Given the description of an element on the screen output the (x, y) to click on. 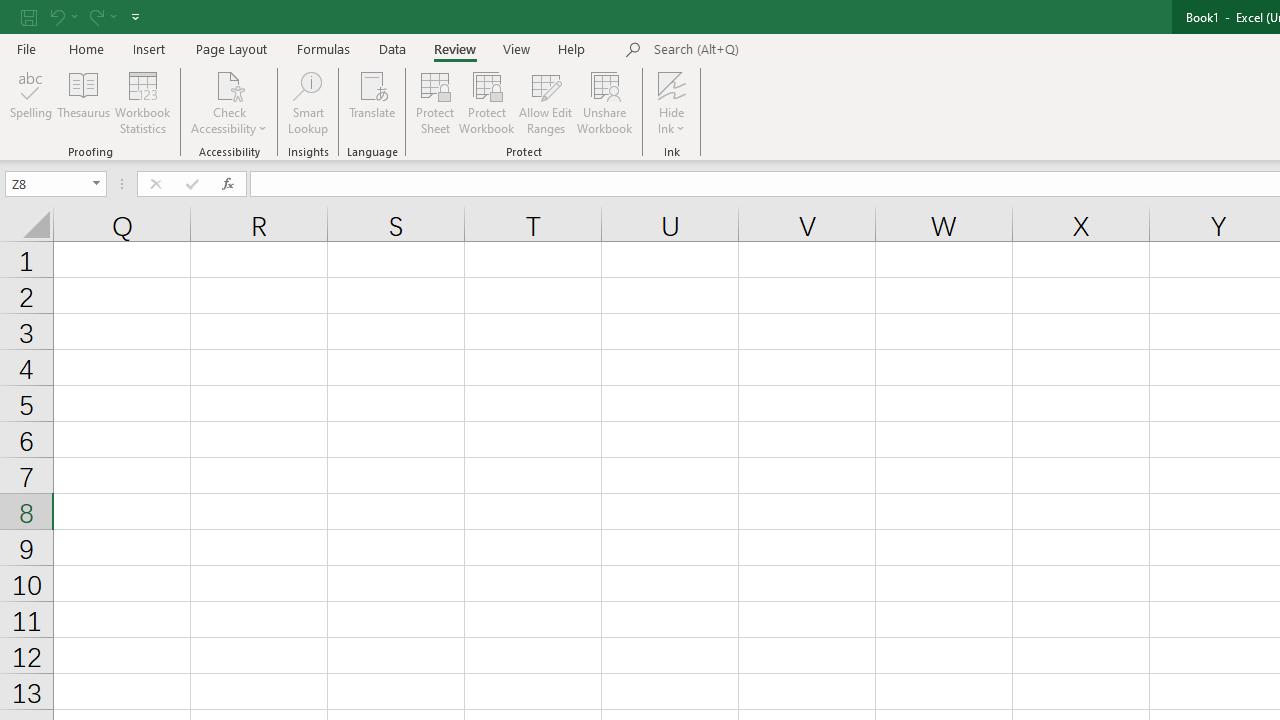
Protect Workbook... (486, 102)
Protect Sheet... (434, 102)
Microsoft search (792, 49)
Allow Edit Ranges (545, 102)
Spelling... (31, 102)
Check Accessibility (229, 102)
Translate (372, 102)
